Given the description of an element on the screen output the (x, y) to click on. 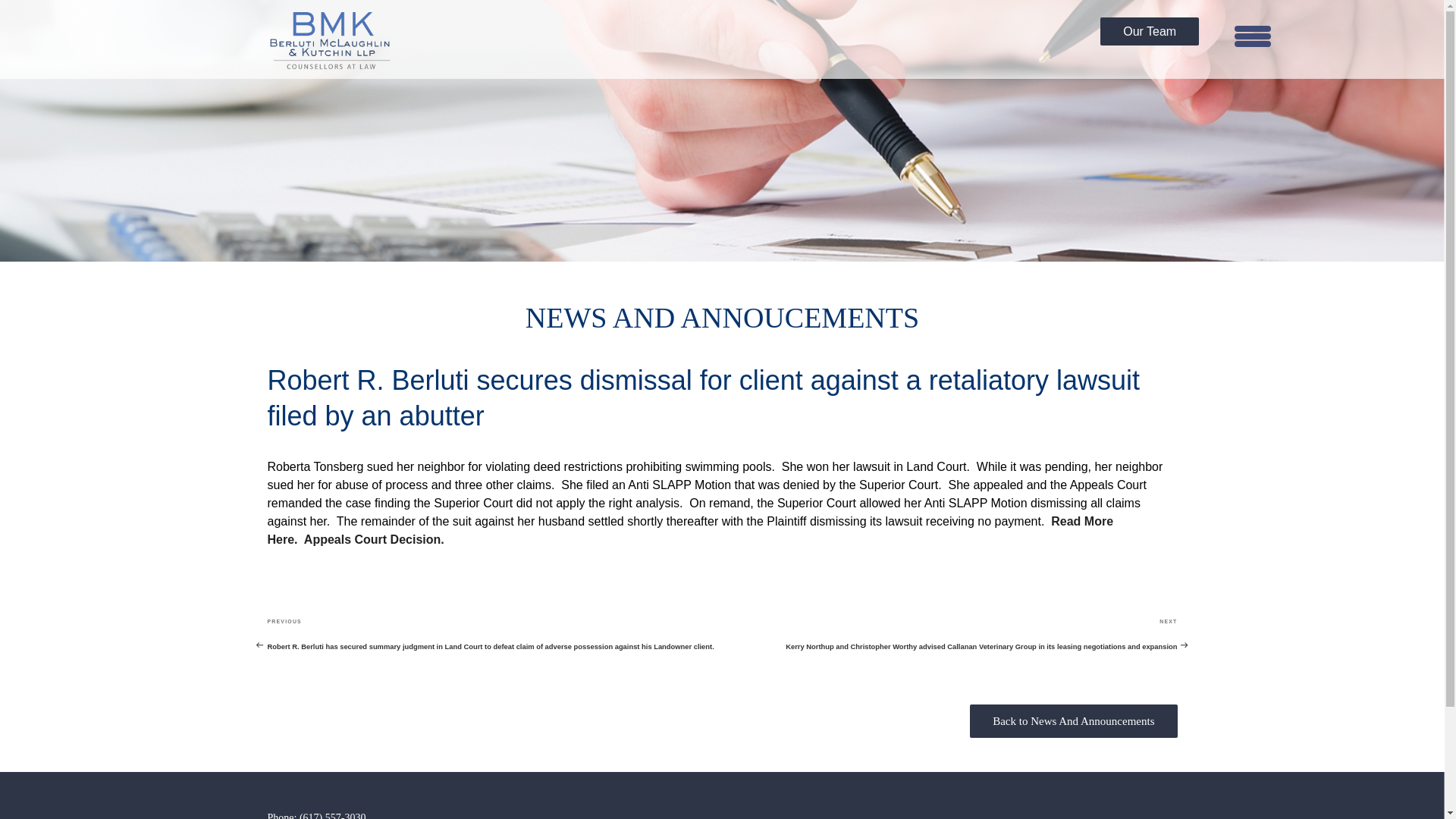
Our Team (1149, 31)
Read More Here. (689, 530)
Back to News And Announcements (1073, 720)
Appeals Court Decision. (374, 539)
